Given the description of an element on the screen output the (x, y) to click on. 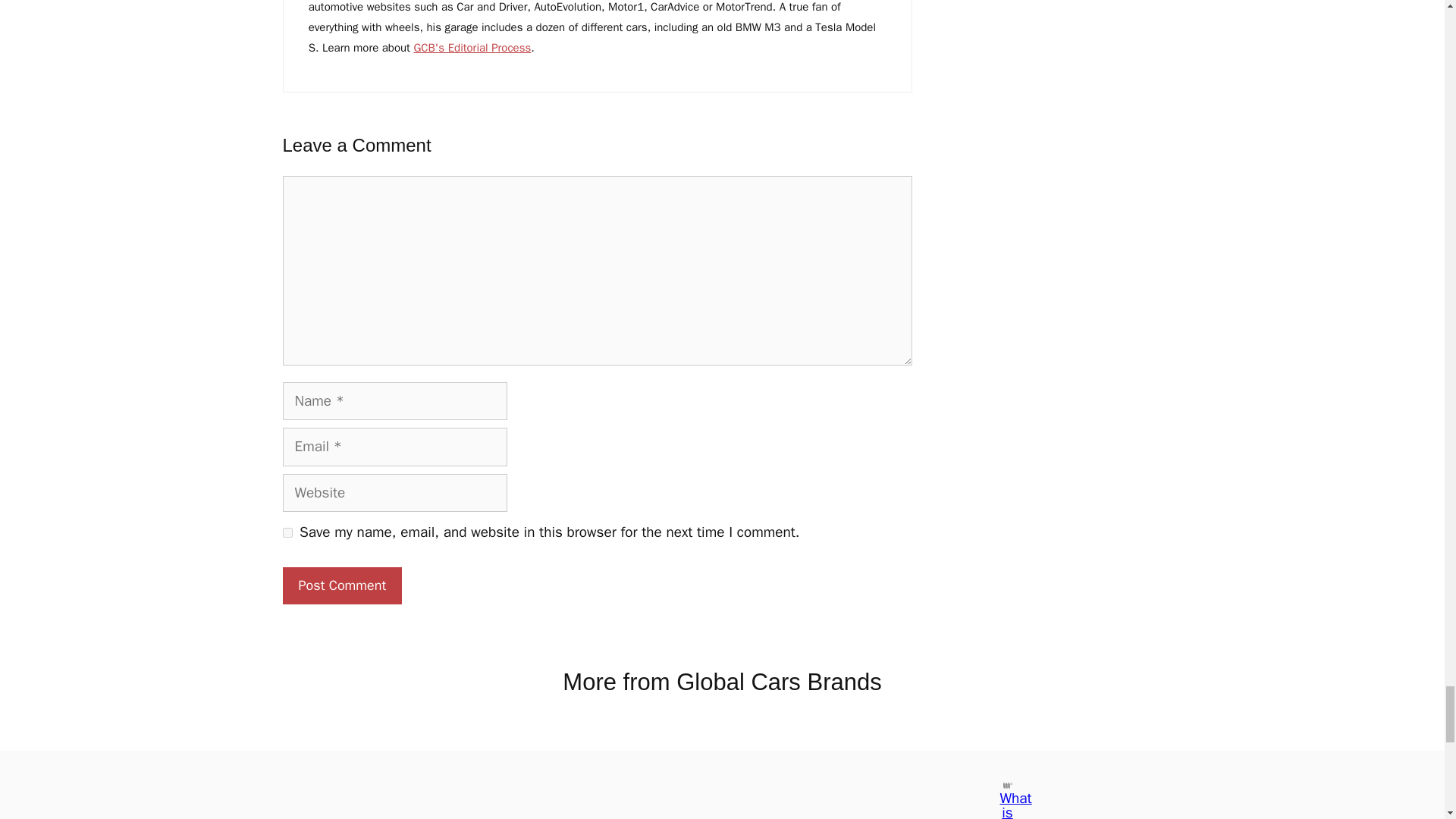
Post Comment (341, 585)
yes (287, 532)
editorial guidelines (472, 47)
